Given the description of an element on the screen output the (x, y) to click on. 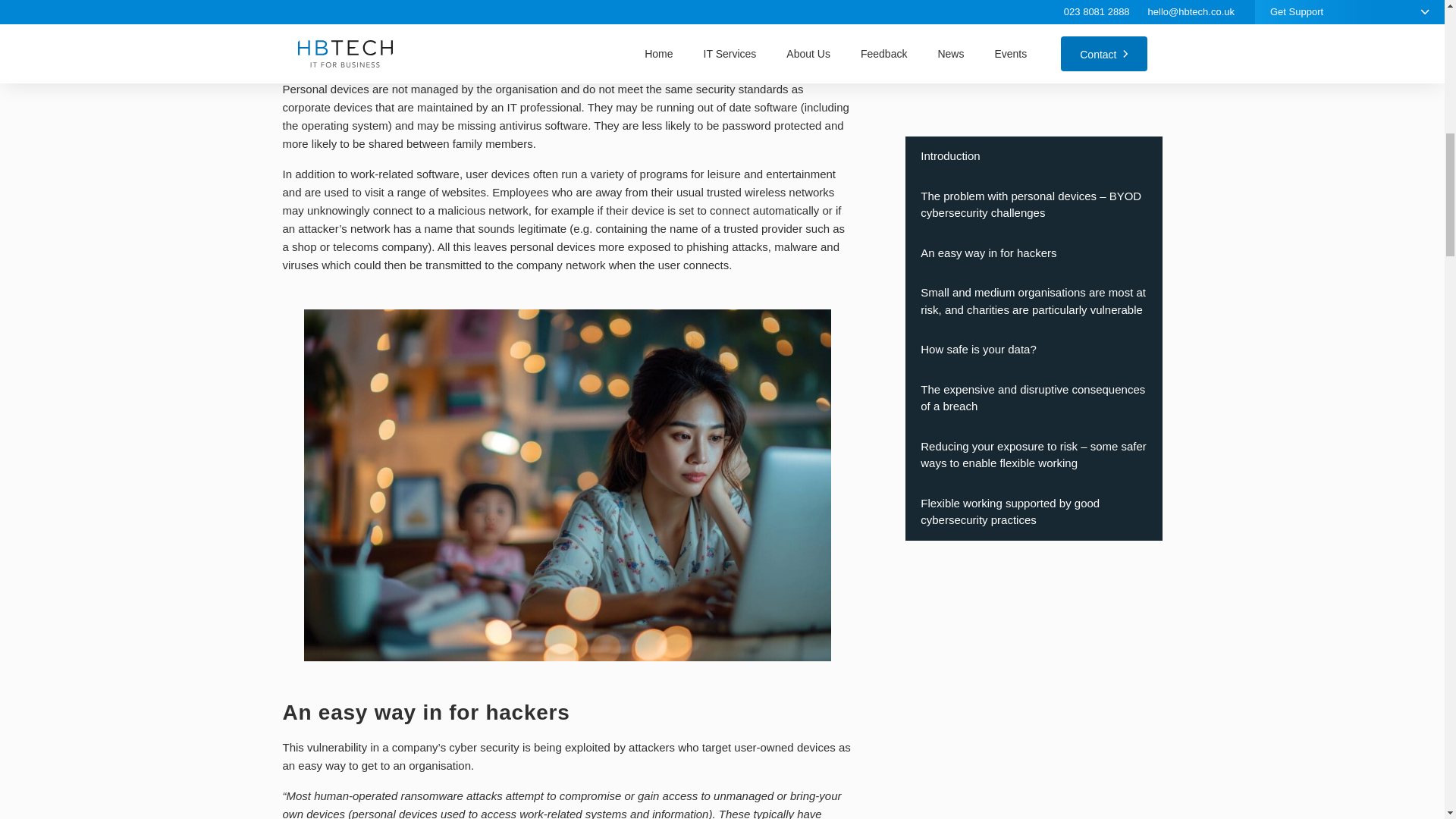
The expensive and disruptive consequences of a breach  (1033, 3)
Flexible working supported by good cybersecurity practices  (1033, 91)
Flexible working supported by good cybersecurity practices  (1033, 91)
The expensive and disruptive consequences of a breach  (1033, 3)
